Given the description of an element on the screen output the (x, y) to click on. 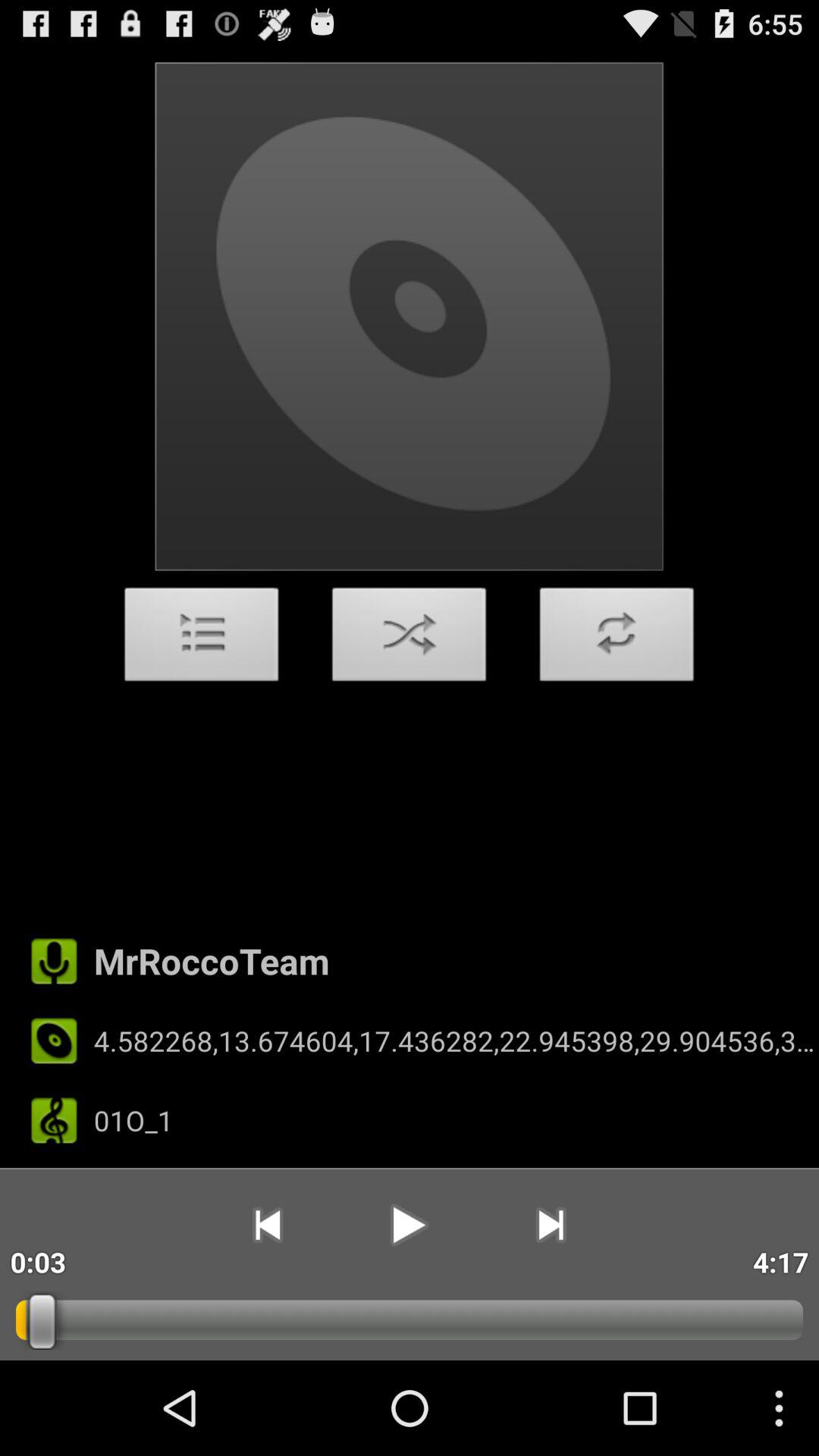
choose icon above mrroccoteam icon (616, 638)
